Given the description of an element on the screen output the (x, y) to click on. 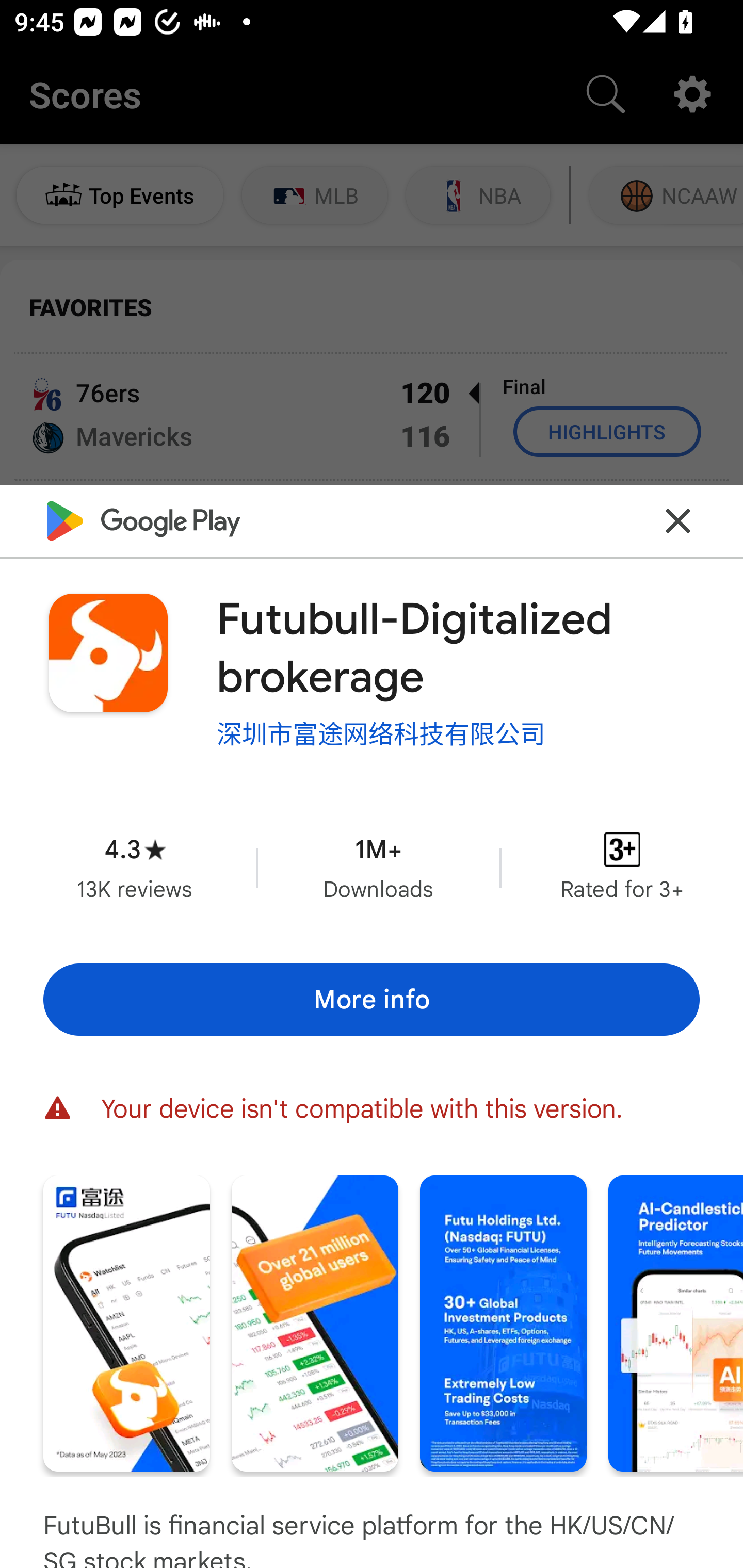
Close (677, 520)
深圳市富途网络科技有限公司 (380, 733)
More info (371, 999)
Screenshot "1" of "8" (126, 1323)
Screenshot "2" of "8" (314, 1323)
Screenshot "3" of "8" (502, 1323)
Screenshot "4" of "8" (675, 1323)
